Given the description of an element on the screen output the (x, y) to click on. 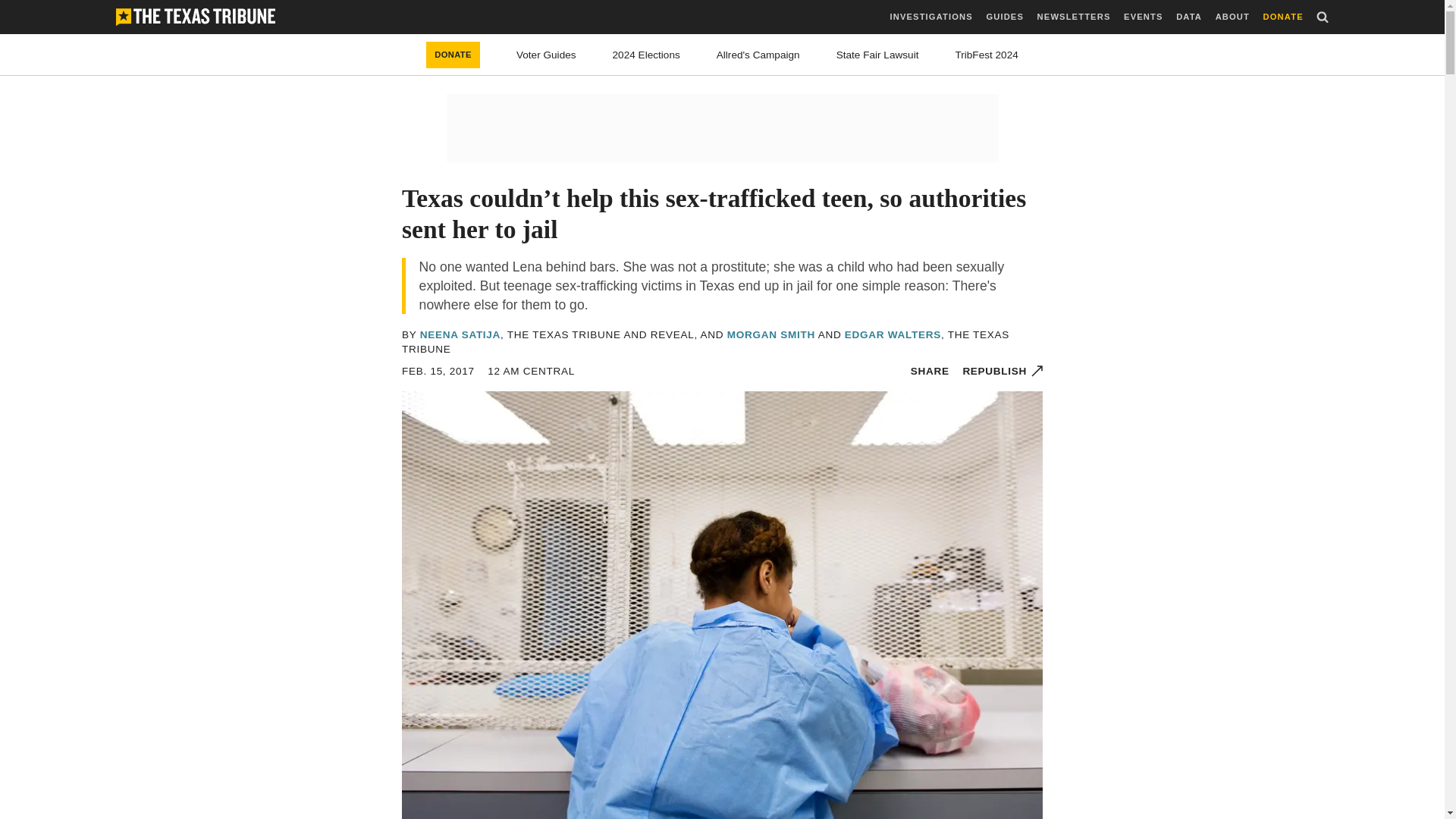
TribFest 2024 (986, 54)
REPUBLISH (1002, 370)
INVESTIGATIONS (930, 17)
Allred's Campaign (757, 54)
EVENTS (1142, 17)
2017-02-15 00:01 CST (531, 370)
MORGAN SMITH (770, 334)
NEENA SATIJA (460, 334)
2024 Elections (645, 54)
DONATE (1283, 17)
